Given the description of an element on the screen output the (x, y) to click on. 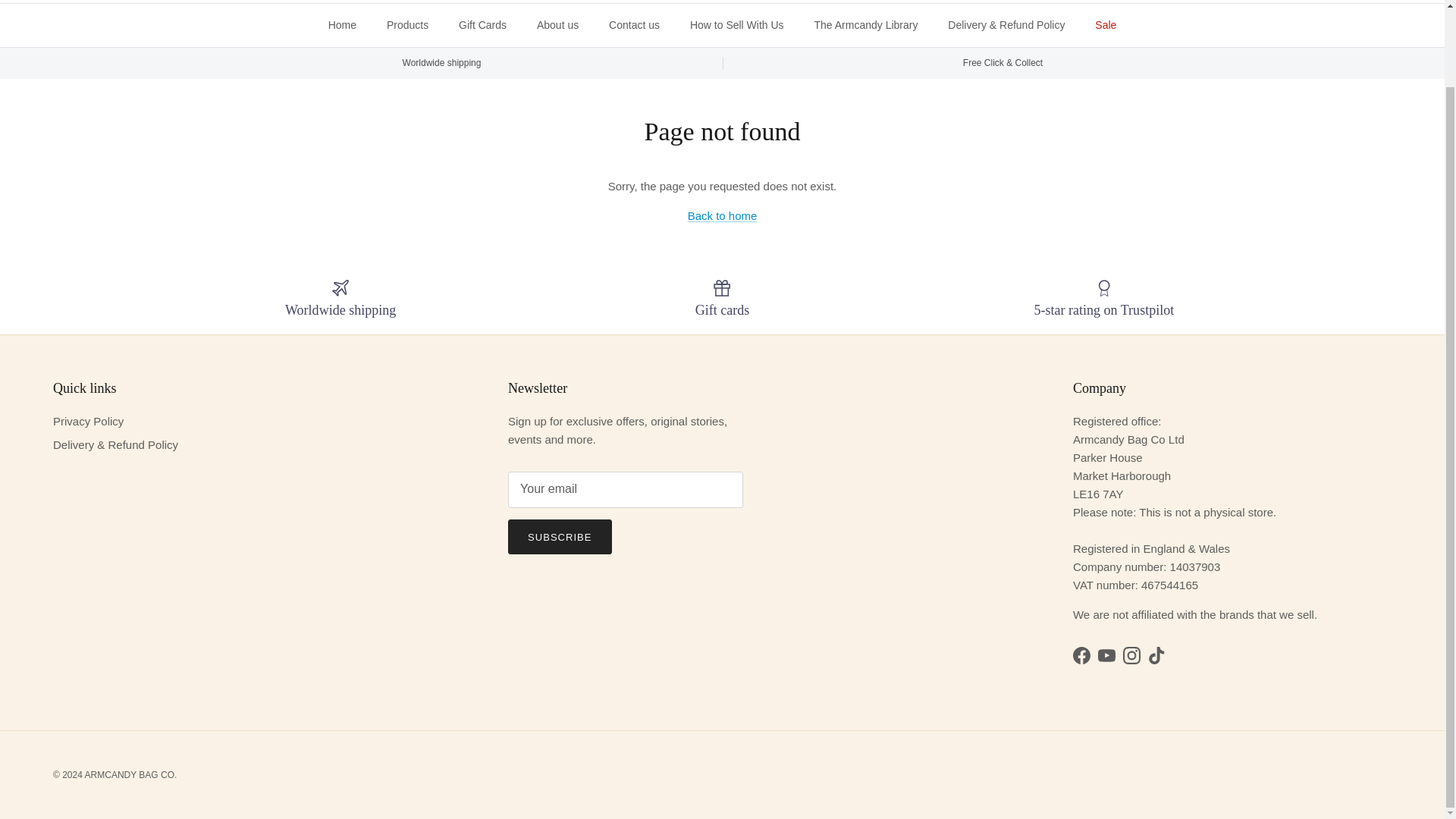
ARMCANDY BAG CO on YouTube (1106, 655)
Gift Cards (482, 25)
Home (341, 25)
ARMCANDY BAG CO on Facebook (1081, 655)
Contact us (633, 25)
About us (557, 25)
Sale (1105, 25)
ARMCANDY BAG CO on TikTok (1157, 655)
Products (407, 25)
ARMCANDY BAG CO on Instagram (1131, 655)
